Given the description of an element on the screen output the (x, y) to click on. 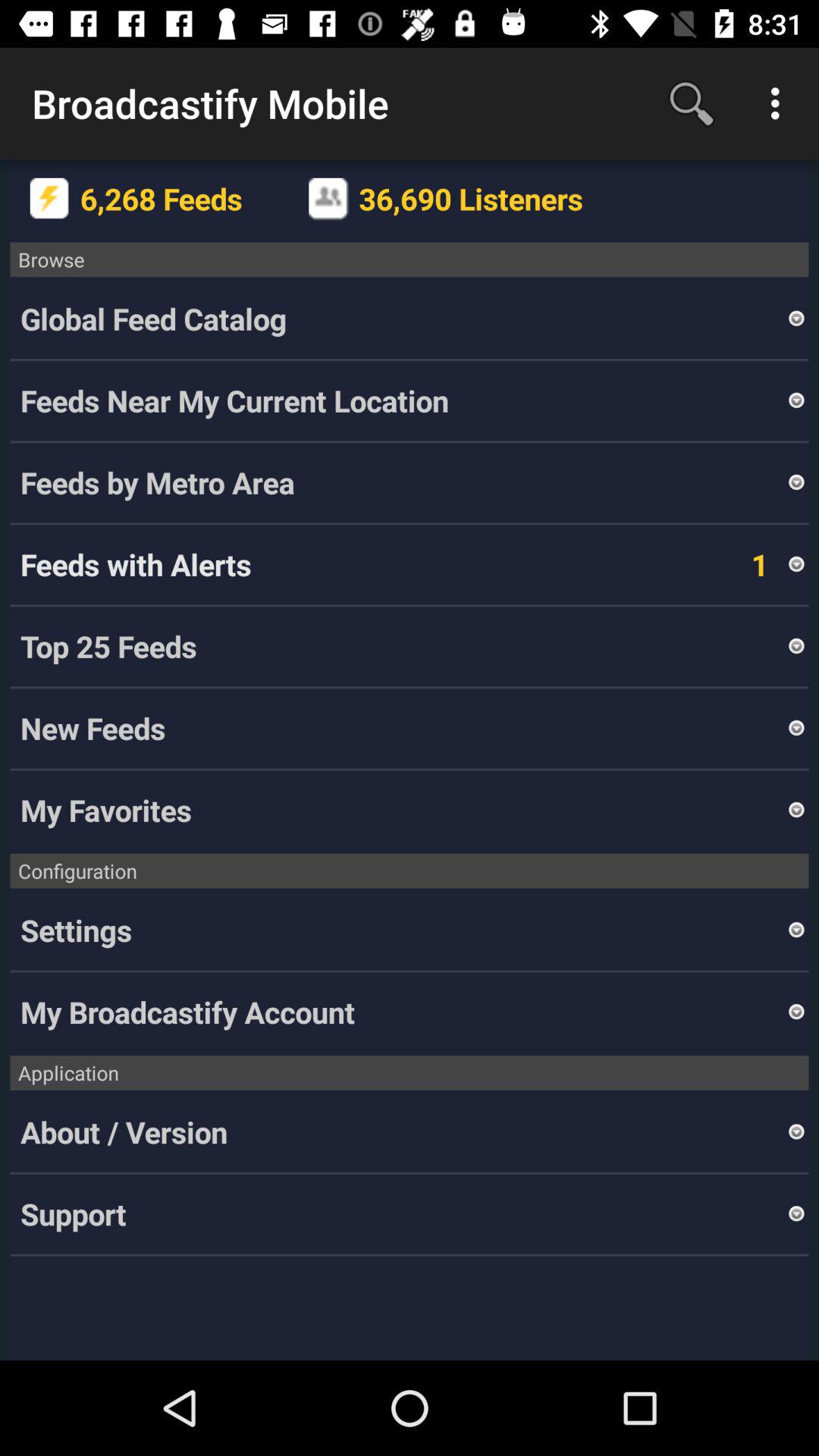
launch the icon next to the feeds near my item (796, 400)
